Given the description of an element on the screen output the (x, y) to click on. 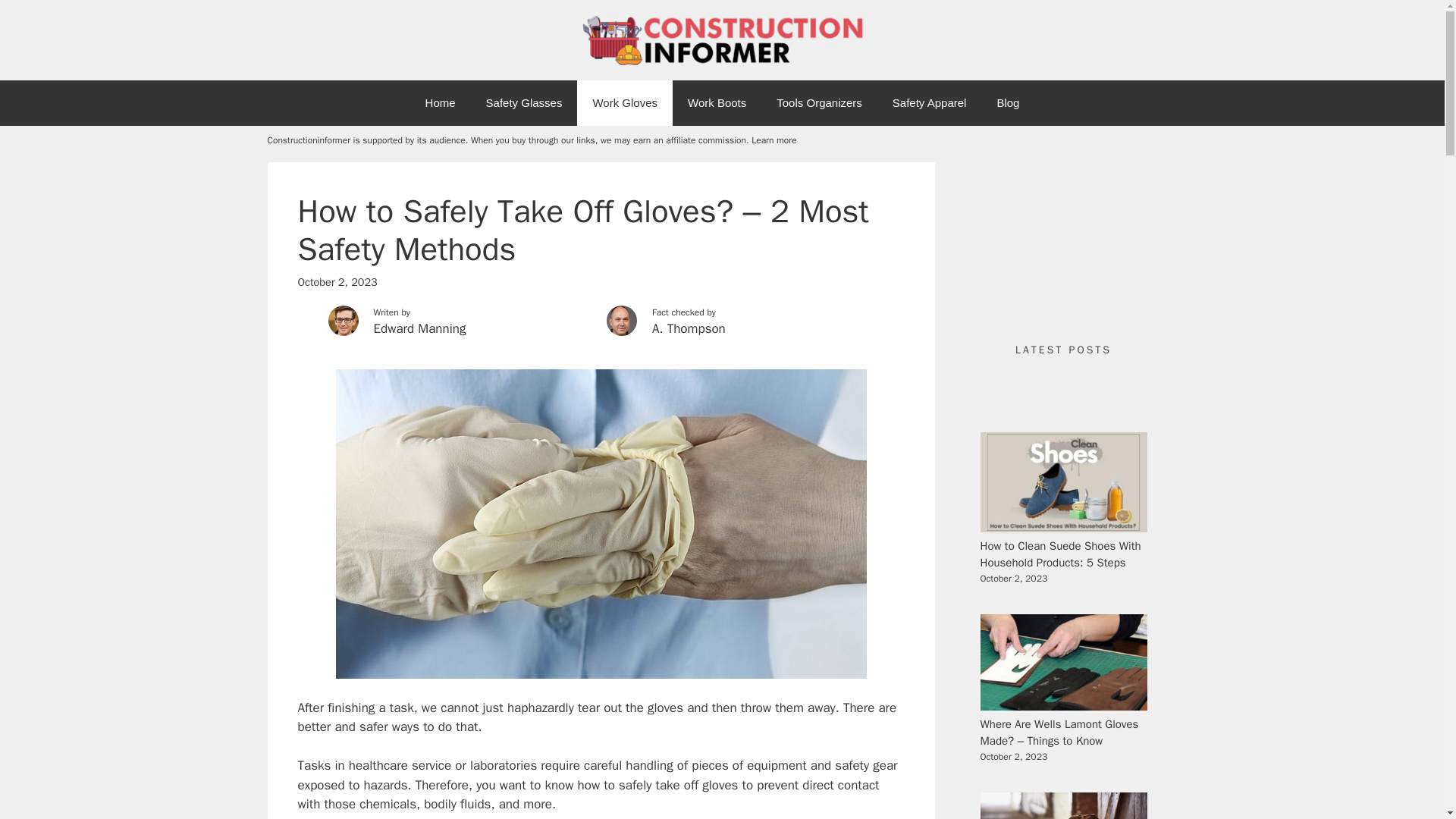
Safety Apparel (929, 103)
Home (440, 103)
A. Thompson (746, 335)
Safety Glasses (524, 103)
Work Gloves (624, 103)
Learn more (773, 140)
Edward Manning (467, 335)
Blog (1007, 103)
Tools Organizers (819, 103)
How to Clean Suede Shoes With Household Products: 5 Steps (1059, 554)
Work Boots (716, 103)
